Given the description of an element on the screen output the (x, y) to click on. 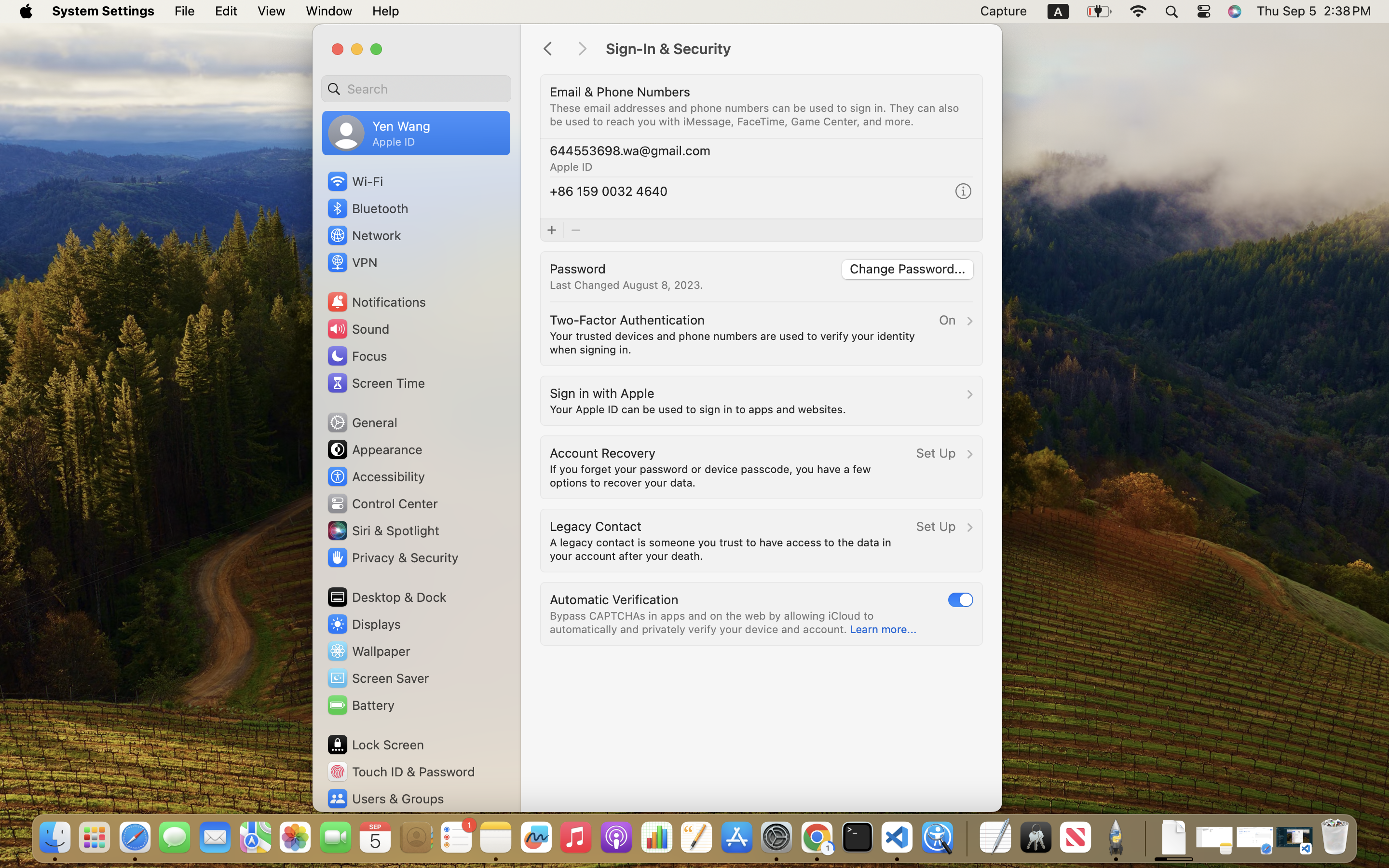
Bypass CAPTCHAs in apps and on the web by allowing iCloud to automatically and privately verify your device and account. Learn more... Element type: AXStaticText (732, 621)
Apple ID Element type: AXStaticText (570, 166)
Focus Element type: AXStaticText (356, 355)
0.4285714328289032 Element type: AXDockItem (965, 837)
Privacy & Security Element type: AXStaticText (392, 557)
